Given the description of an element on the screen output the (x, y) to click on. 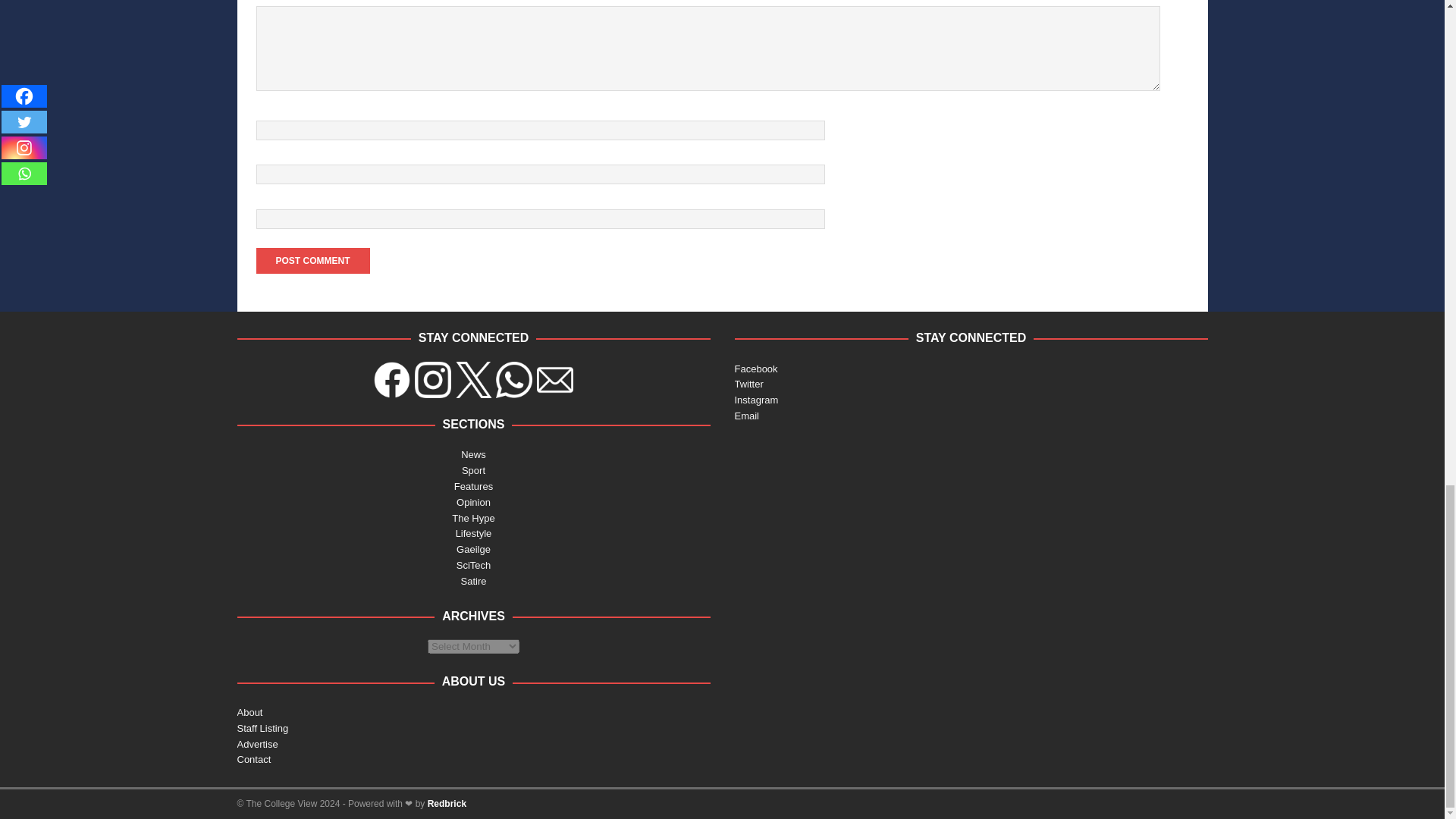
Post Comment (312, 260)
